Given the description of an element on the screen output the (x, y) to click on. 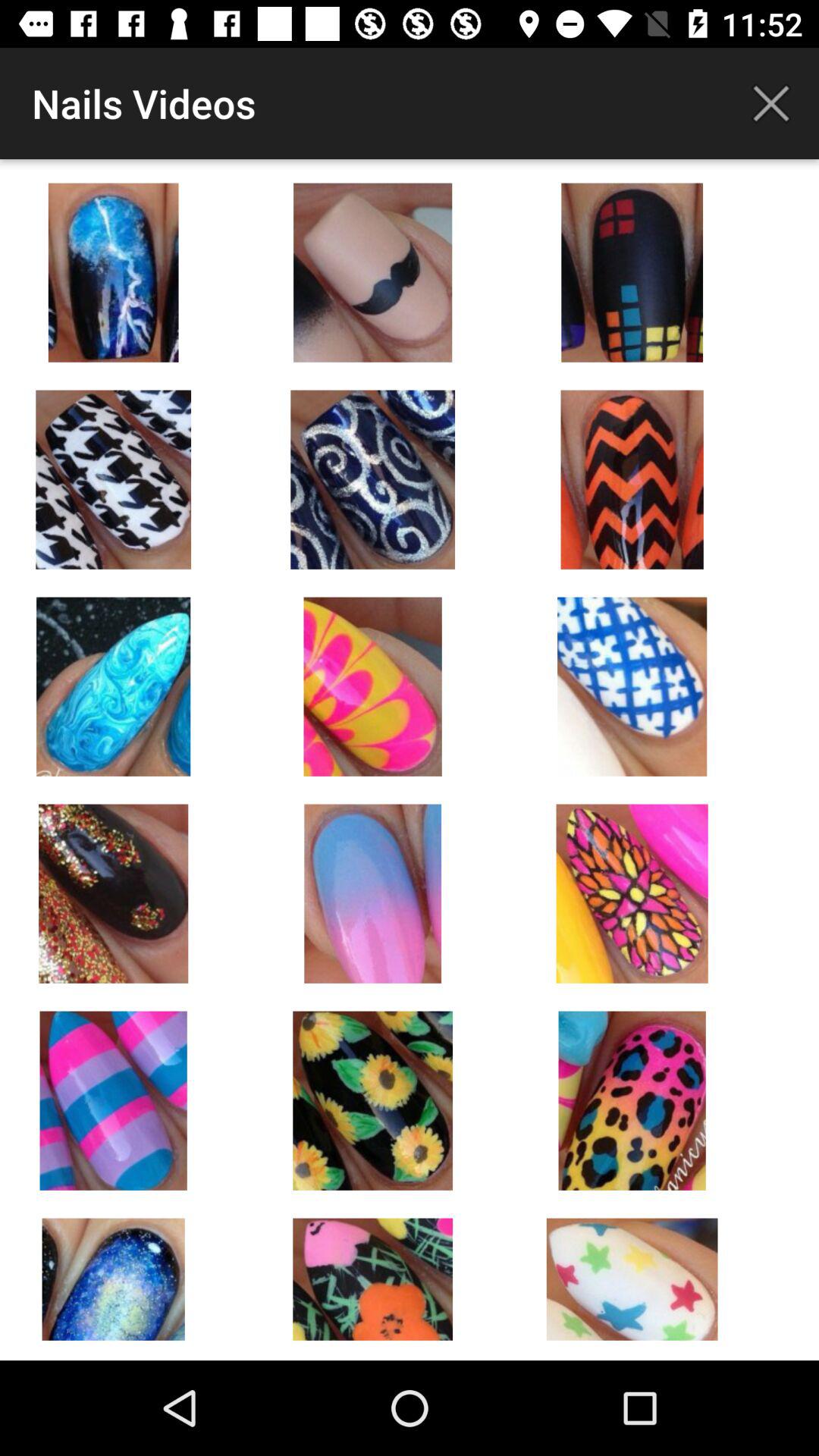
close search query (771, 103)
